Given the description of an element on the screen output the (x, y) to click on. 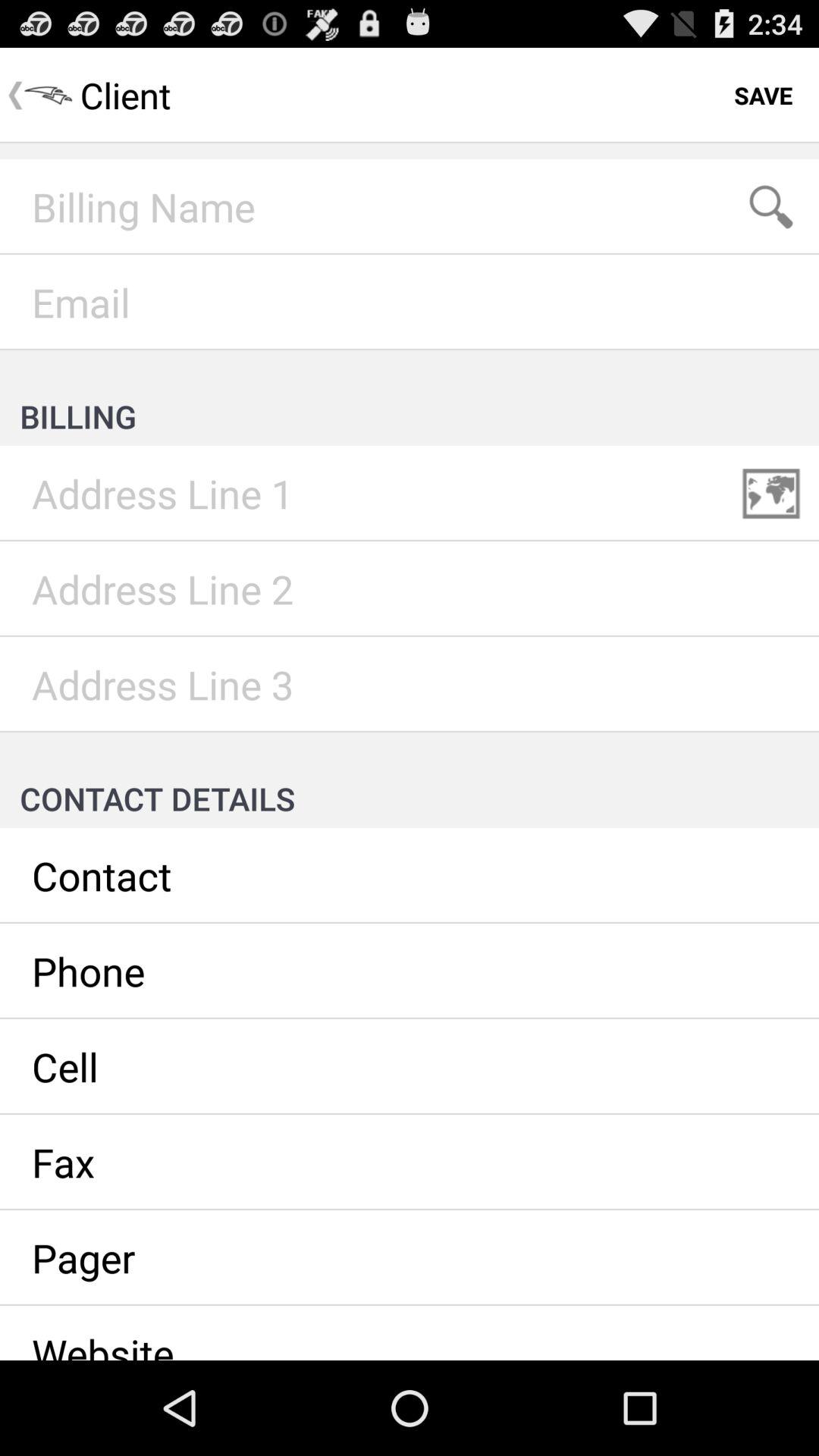
email address (409, 302)
